Given the description of an element on the screen output the (x, y) to click on. 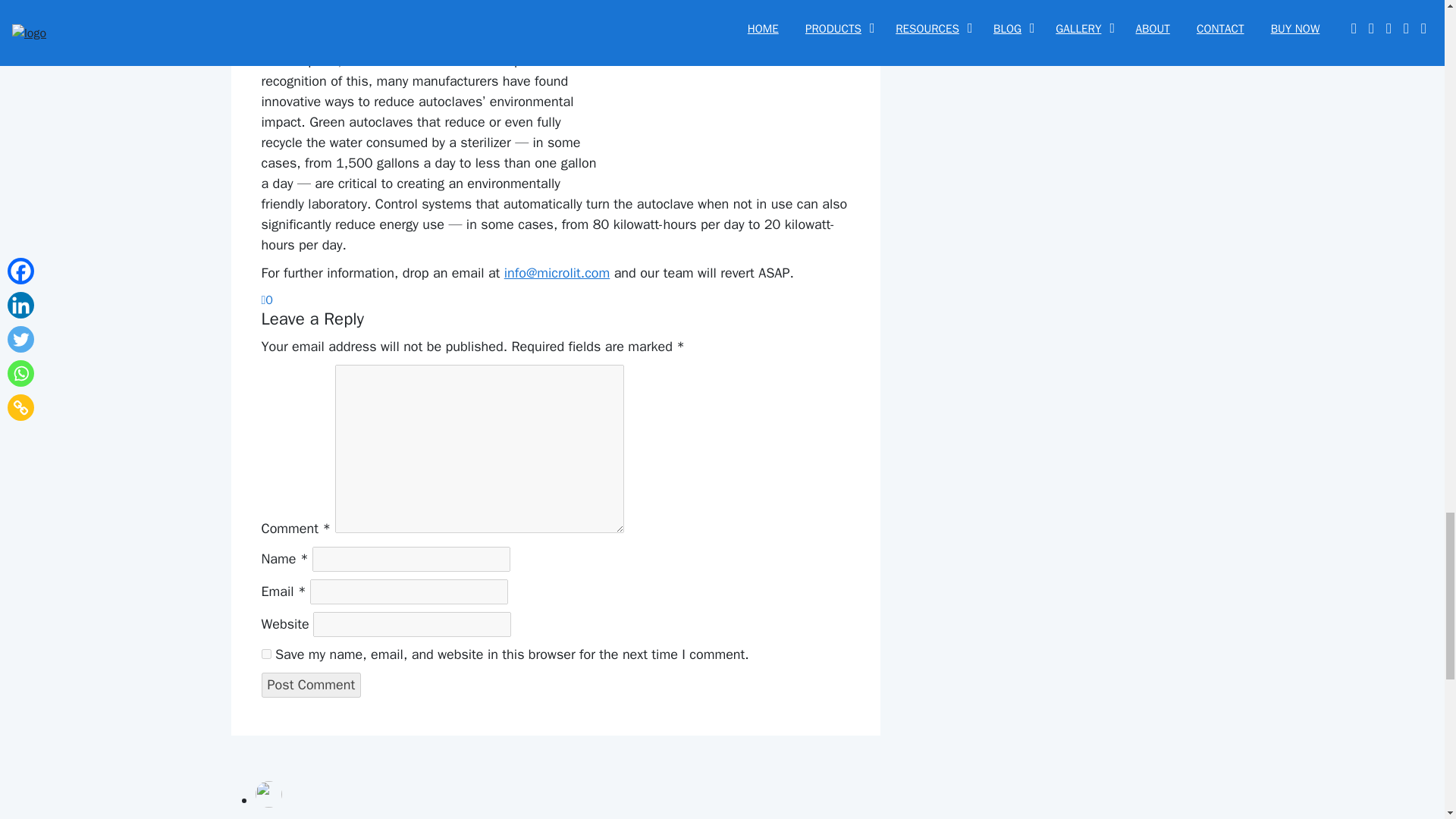
yes (265, 654)
Post Comment (310, 684)
